Given the description of an element on the screen output the (x, y) to click on. 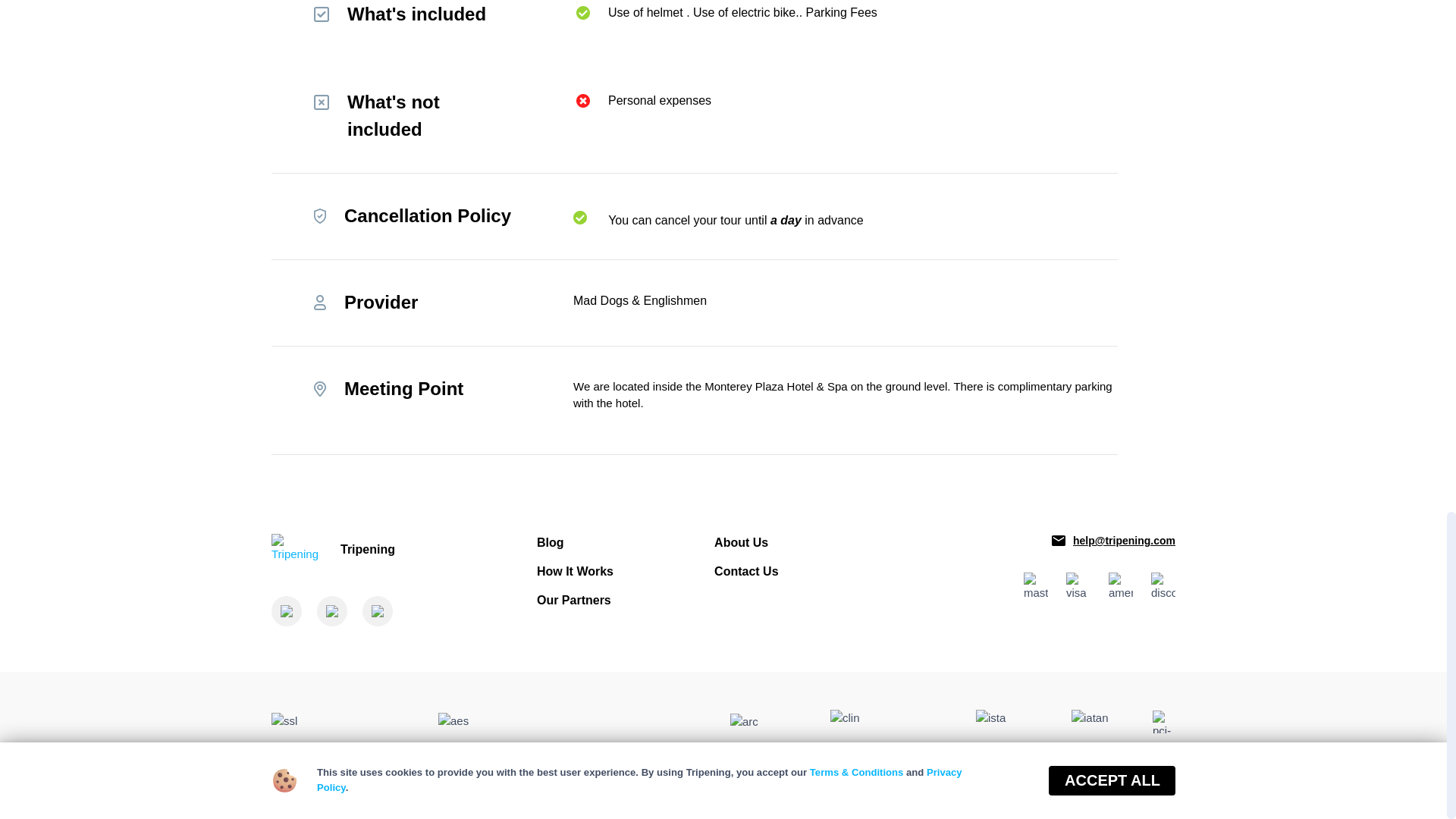
Tripening (386, 549)
Blog (550, 542)
facebook (285, 611)
About Us (741, 542)
instagram (377, 611)
How It Works (574, 571)
Our Partners (574, 599)
twitter (332, 611)
Contact Us (745, 571)
